Given the description of an element on the screen output the (x, y) to click on. 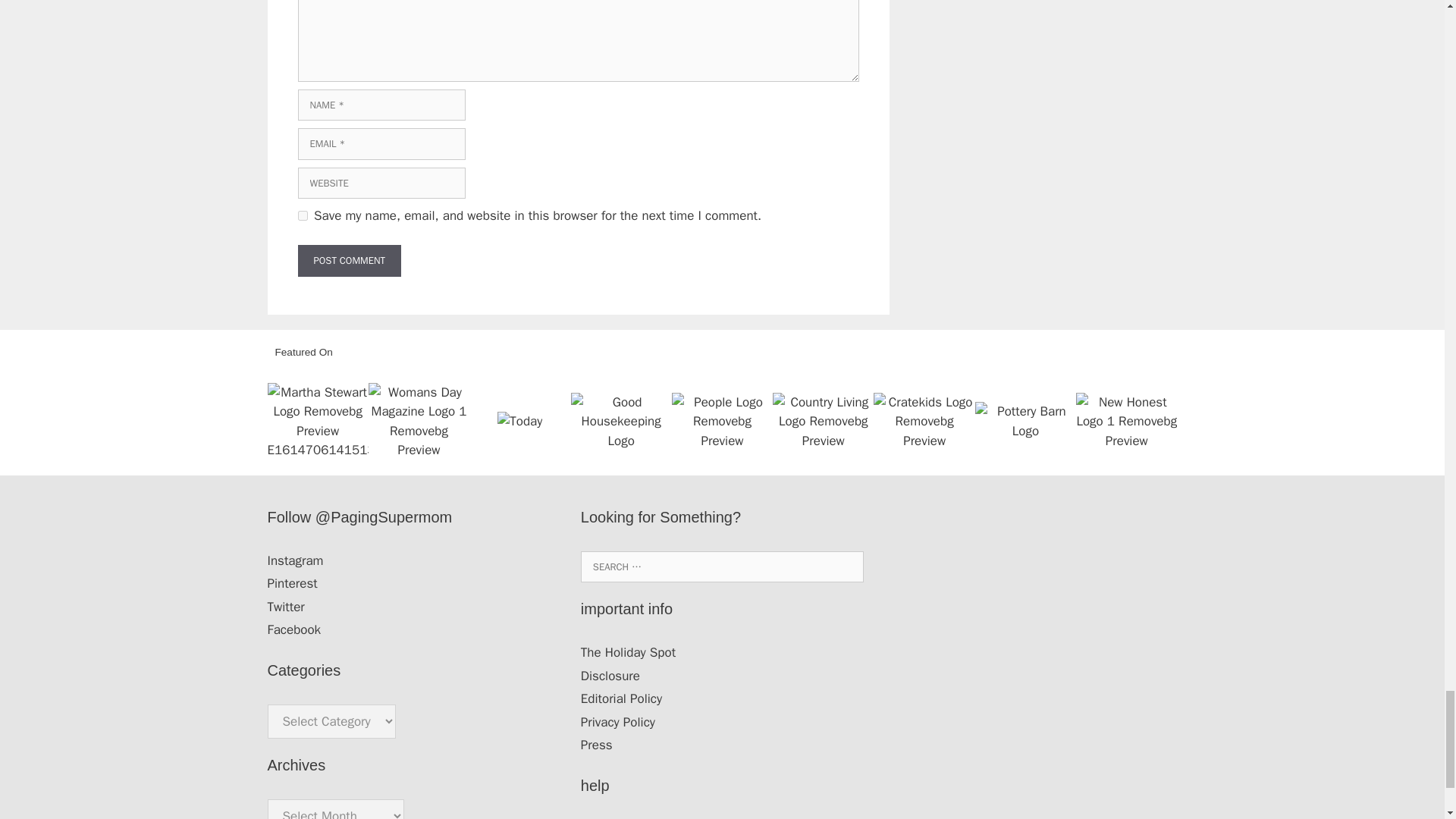
Post Comment (349, 260)
Search for: (721, 567)
yes (302, 215)
